Given the description of an element on the screen output the (x, y) to click on. 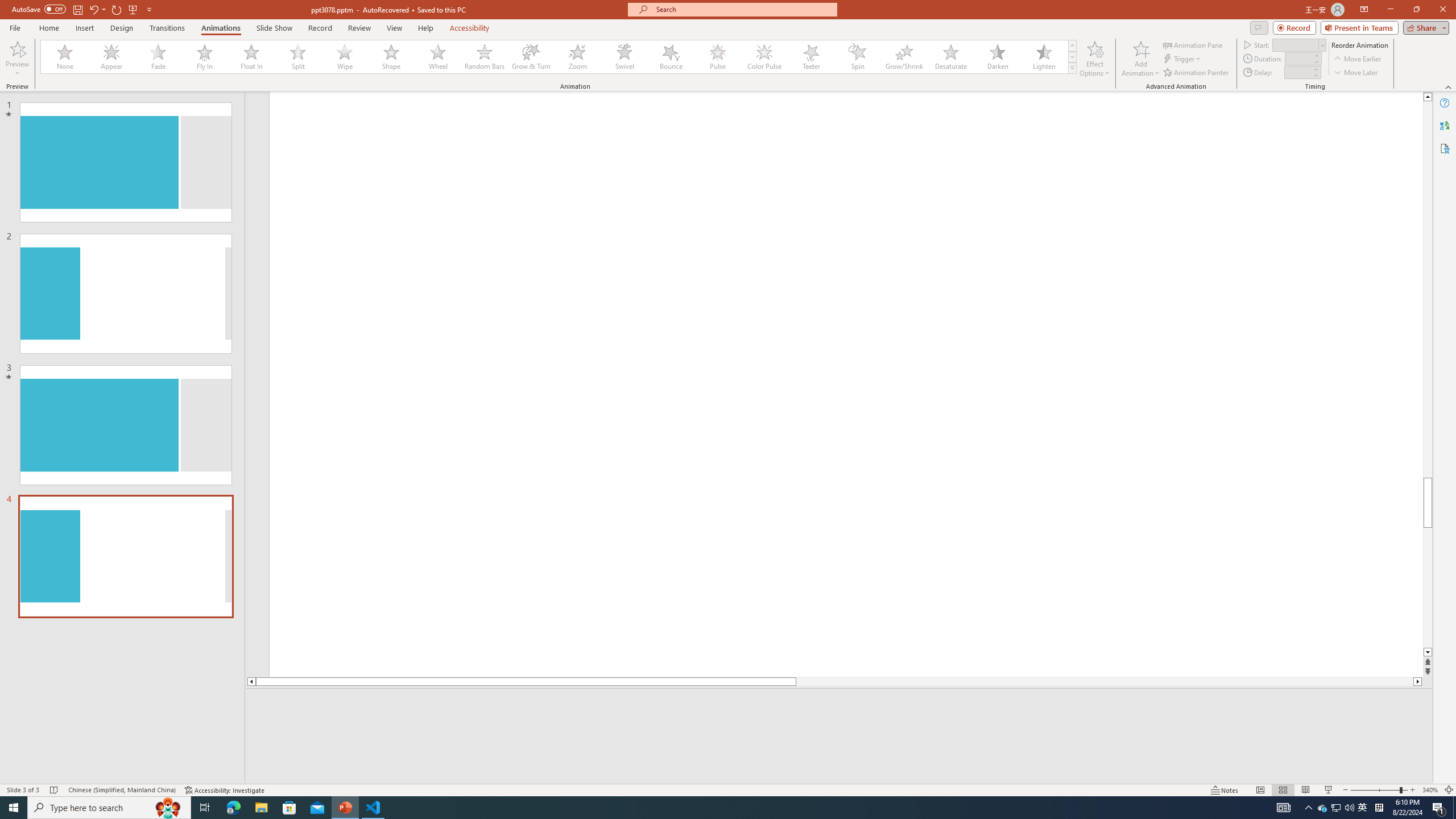
Effect Options (1094, 58)
Wipe (344, 56)
Add Animation (1141, 58)
More (1315, 69)
Split (298, 56)
AutomationID: AnimationGallery (558, 56)
Animation Painter (1196, 72)
